Given the description of an element on the screen output the (x, y) to click on. 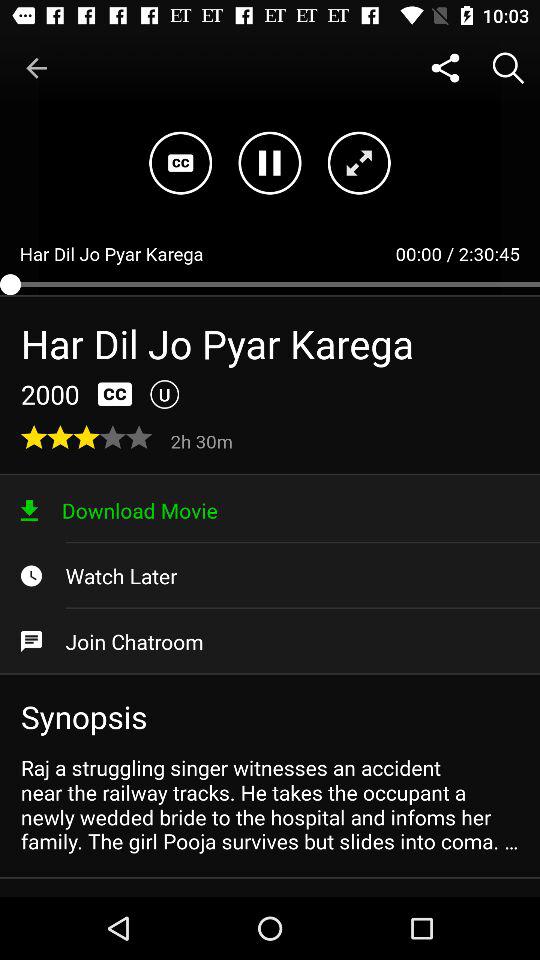
jump to join chatroom icon (270, 641)
